Given the description of an element on the screen output the (x, y) to click on. 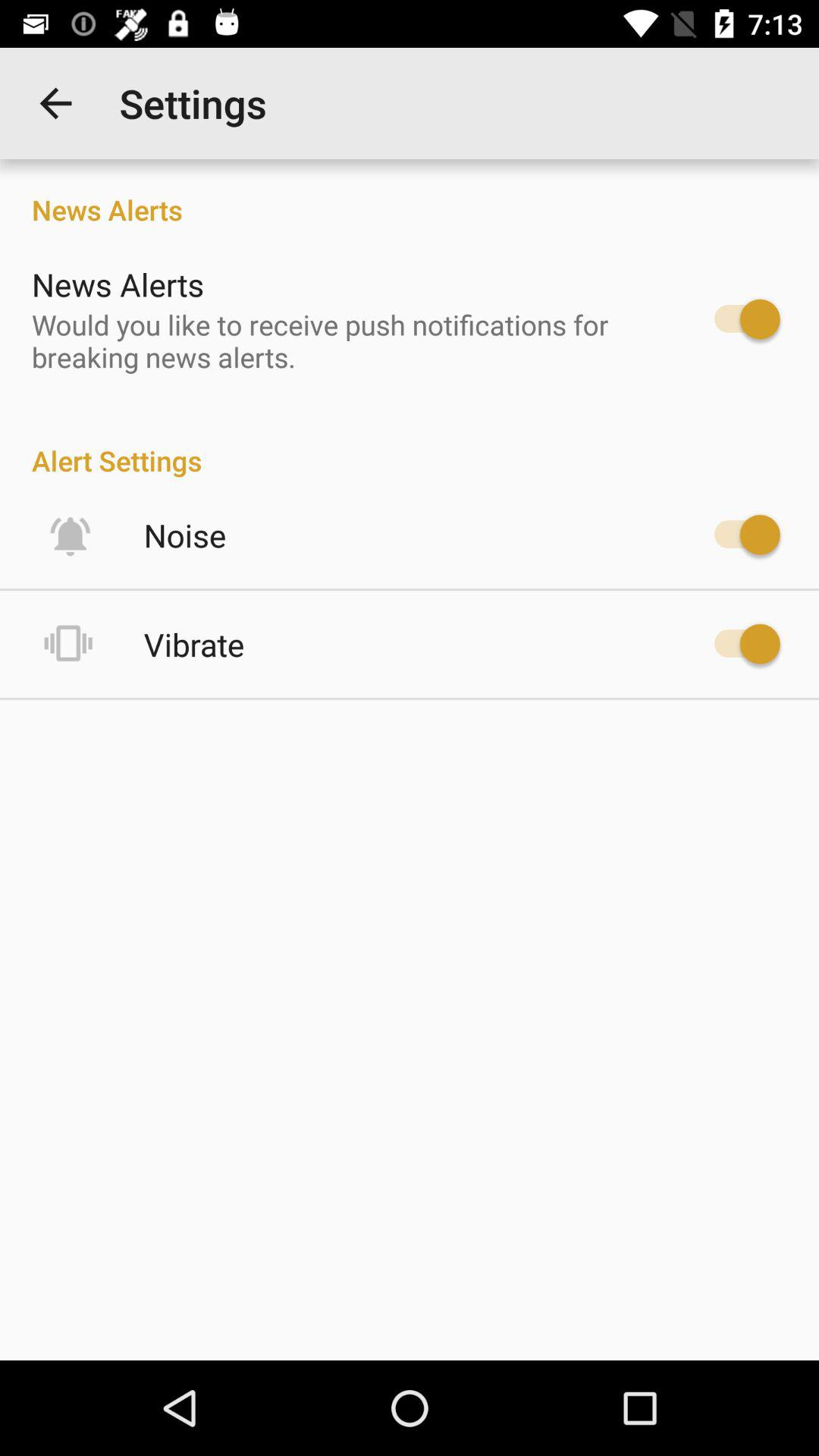
turn on the item below alert settings (184, 534)
